Given the description of an element on the screen output the (x, y) to click on. 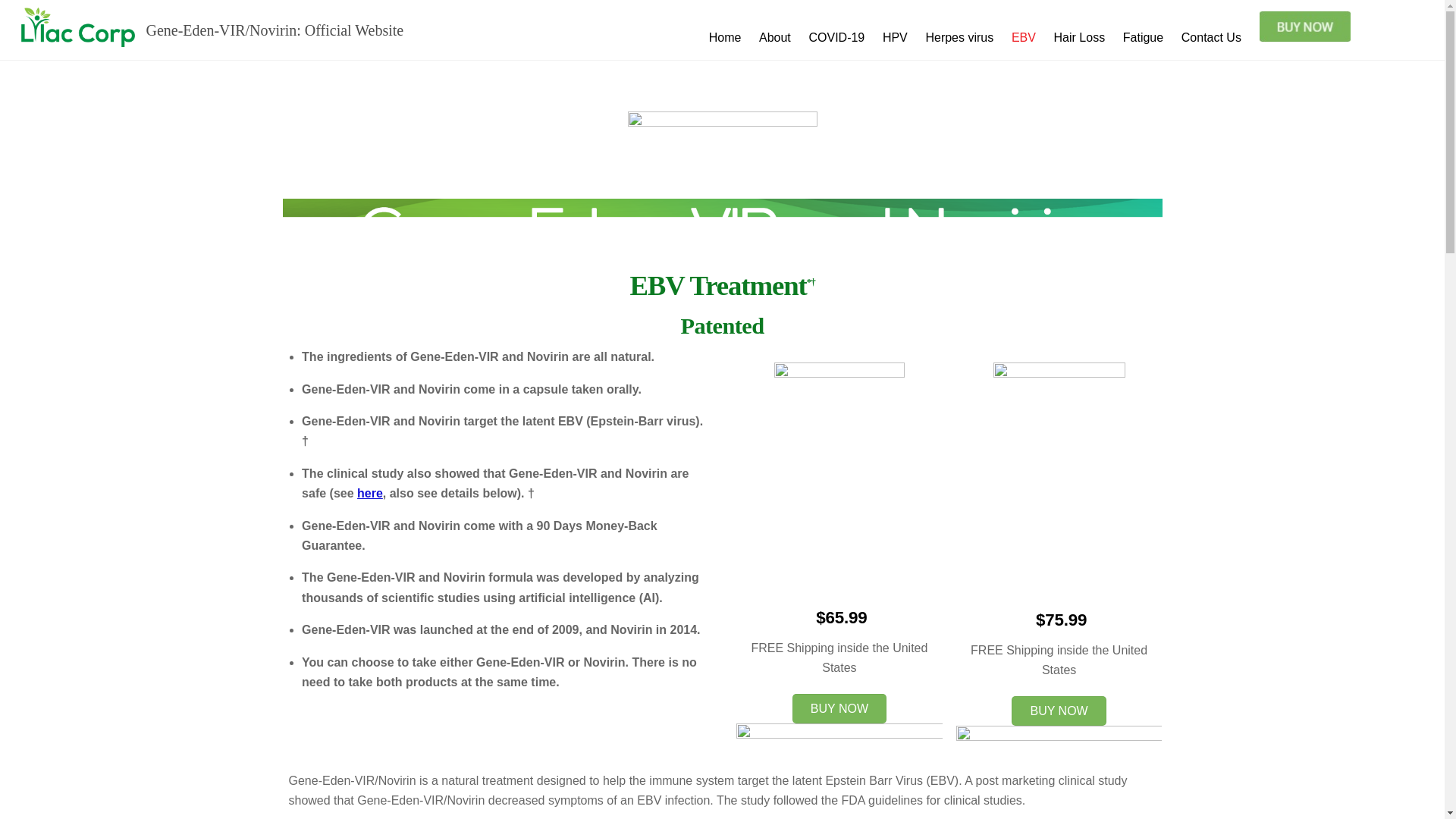
Contact Us (1210, 37)
Hair Loss (1079, 37)
Fatigue (1142, 37)
BUY NOW (1058, 710)
HPV (894, 37)
BUY NOW (839, 708)
Herpes virus (959, 37)
COVID-19 (837, 37)
here (369, 492)
Home (724, 37)
